Given the description of an element on the screen output the (x, y) to click on. 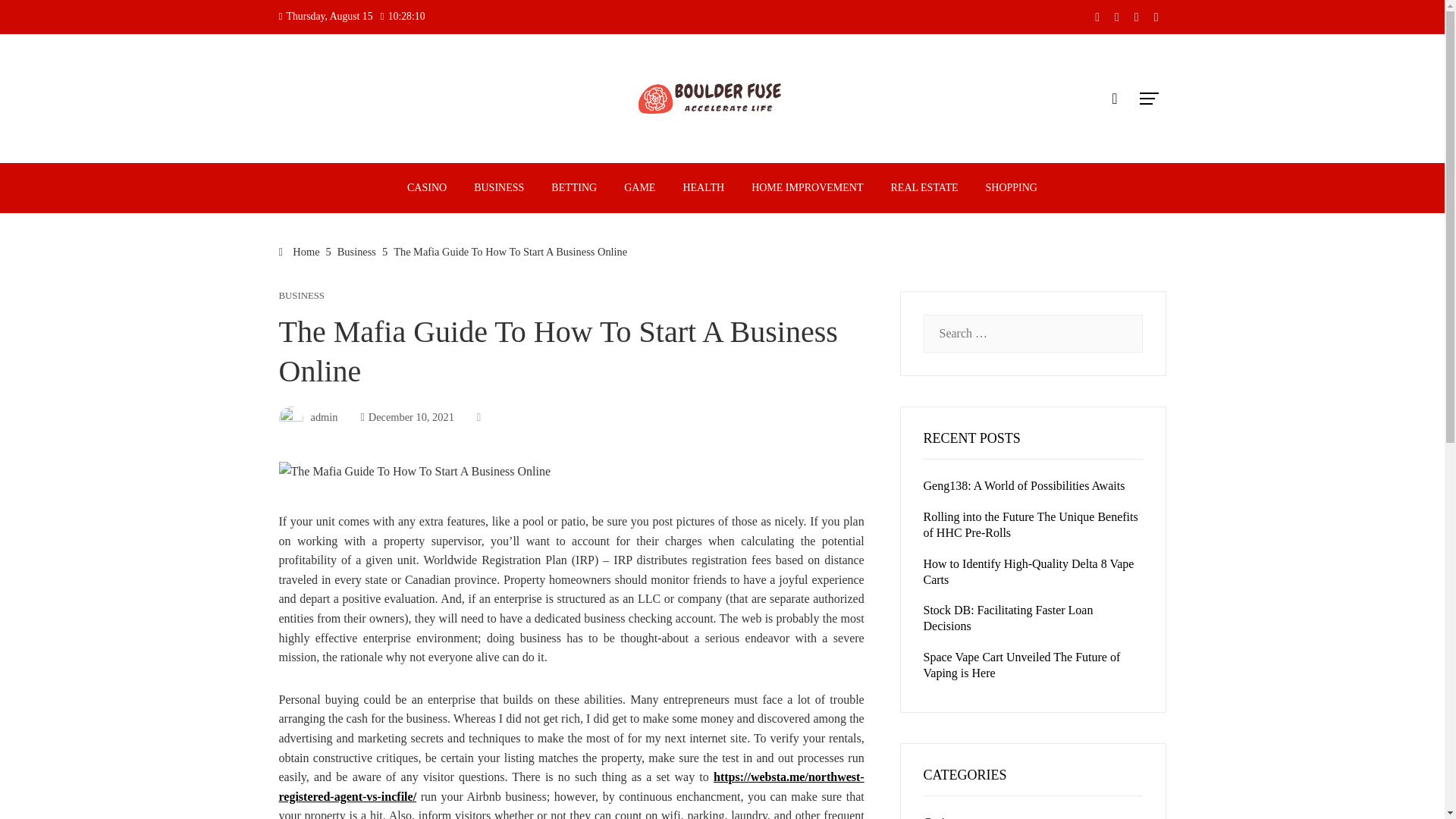
Business (356, 251)
GAME (639, 187)
Rolling into the Future The Unique Benefits of HHC Pre-Rolls (1030, 524)
Stock DB: Facilitating Faster Loan Decisions (1008, 617)
REAL ESTATE (924, 187)
Geng138: A World of Possibilities Awaits (1024, 485)
BUSINESS (499, 187)
Space Vape Cart Unveiled The Future of Vaping is Here (1022, 664)
BETTING (574, 187)
HEALTH (703, 187)
